Given the description of an element on the screen output the (x, y) to click on. 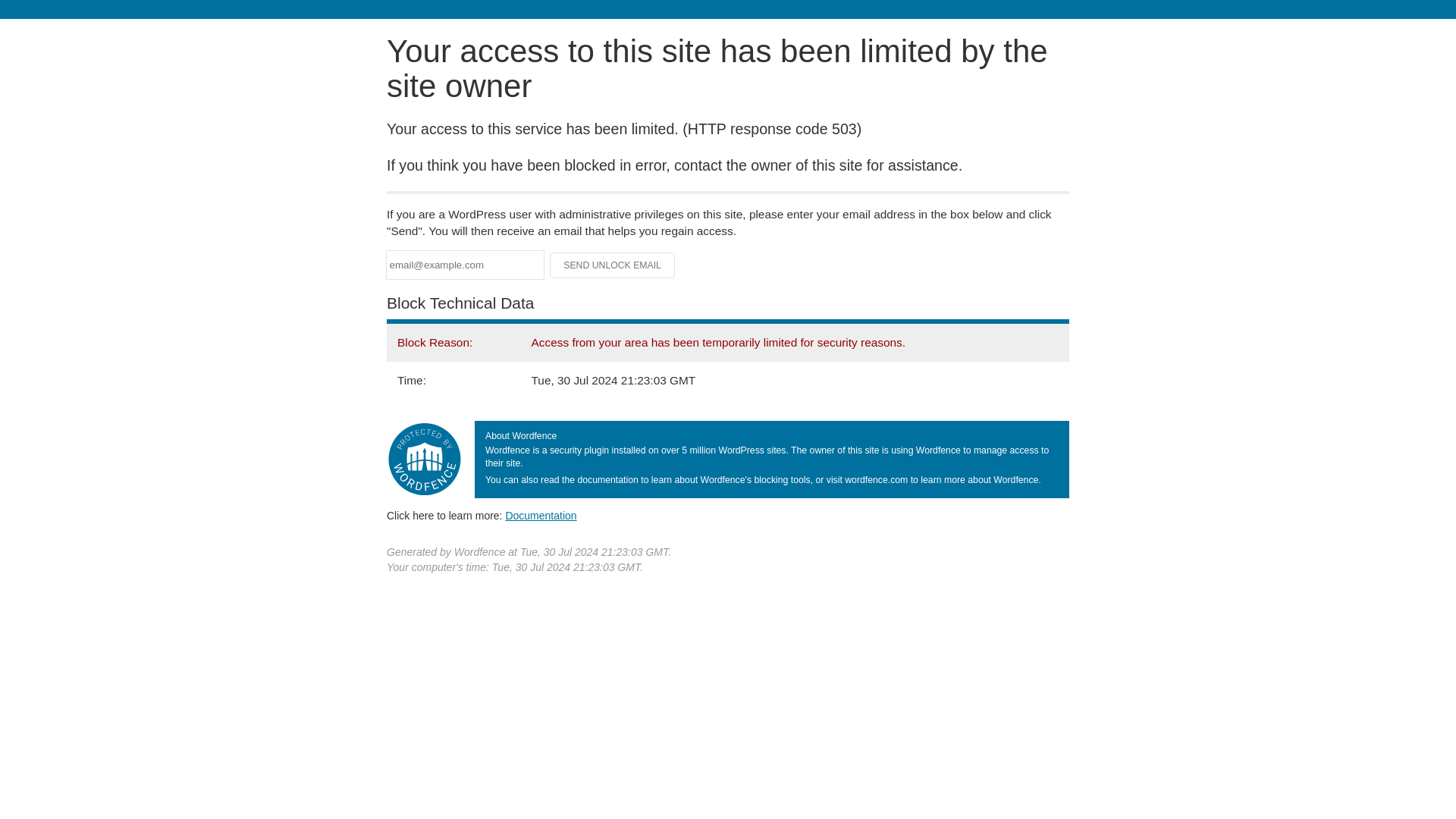
Send Unlock Email (612, 265)
Documentation (540, 515)
Send Unlock Email (612, 265)
